Given the description of an element on the screen output the (x, y) to click on. 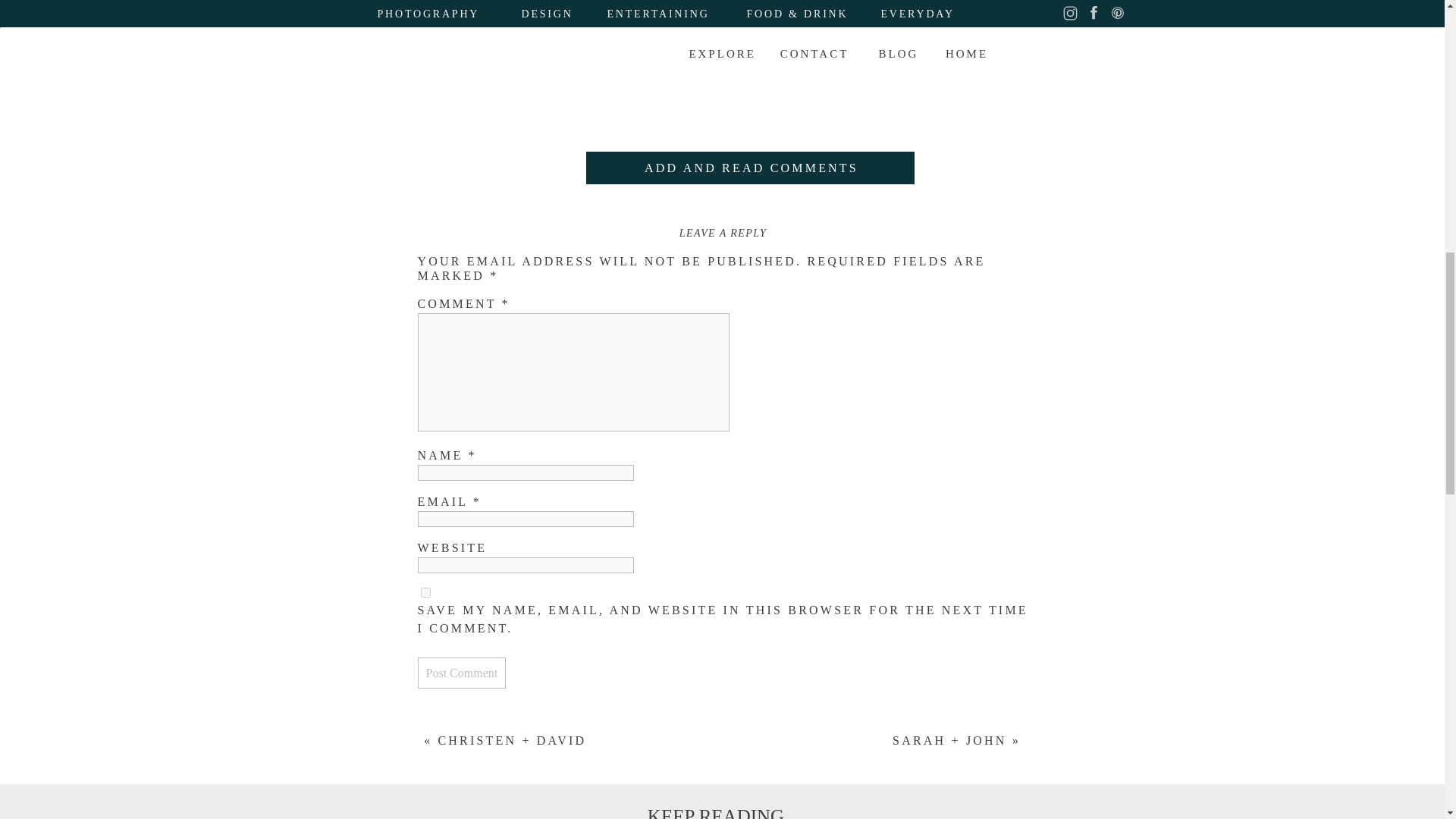
Post Comment (460, 672)
yes (424, 592)
Post Comment (460, 672)
